Given the description of an element on the screen output the (x, y) to click on. 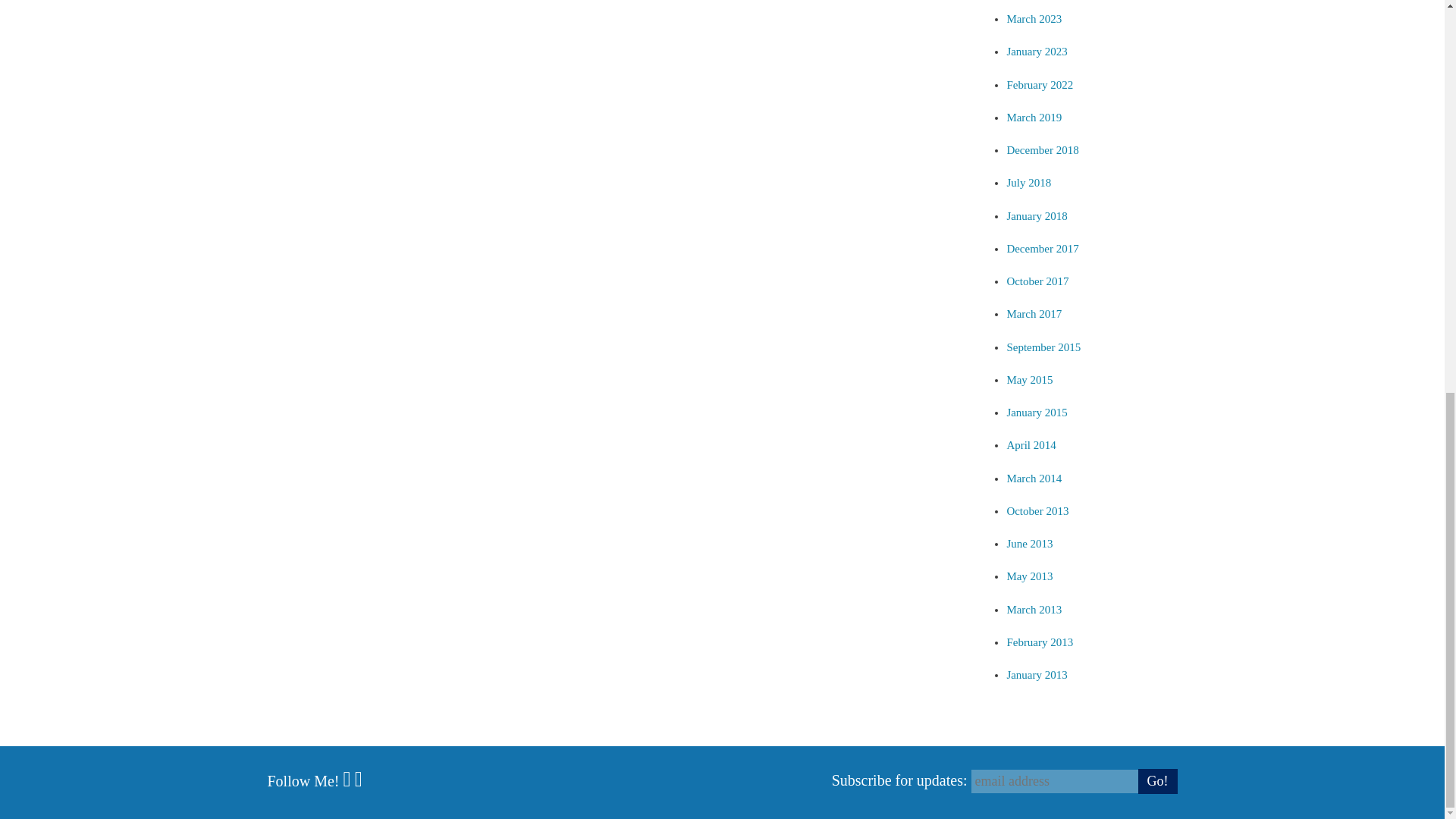
March 2017 (1033, 313)
January 2018 (1036, 215)
October 2013 (1037, 510)
March 2019 (1033, 117)
January 2023 (1036, 51)
July 2018 (1028, 182)
January 2015 (1036, 412)
October 2017 (1037, 281)
March 2023 (1033, 19)
December 2017 (1042, 248)
Go! (1156, 781)
March 2014 (1033, 478)
May 2015 (1029, 379)
April 2014 (1030, 444)
December 2018 (1042, 150)
